Given the description of an element on the screen output the (x, y) to click on. 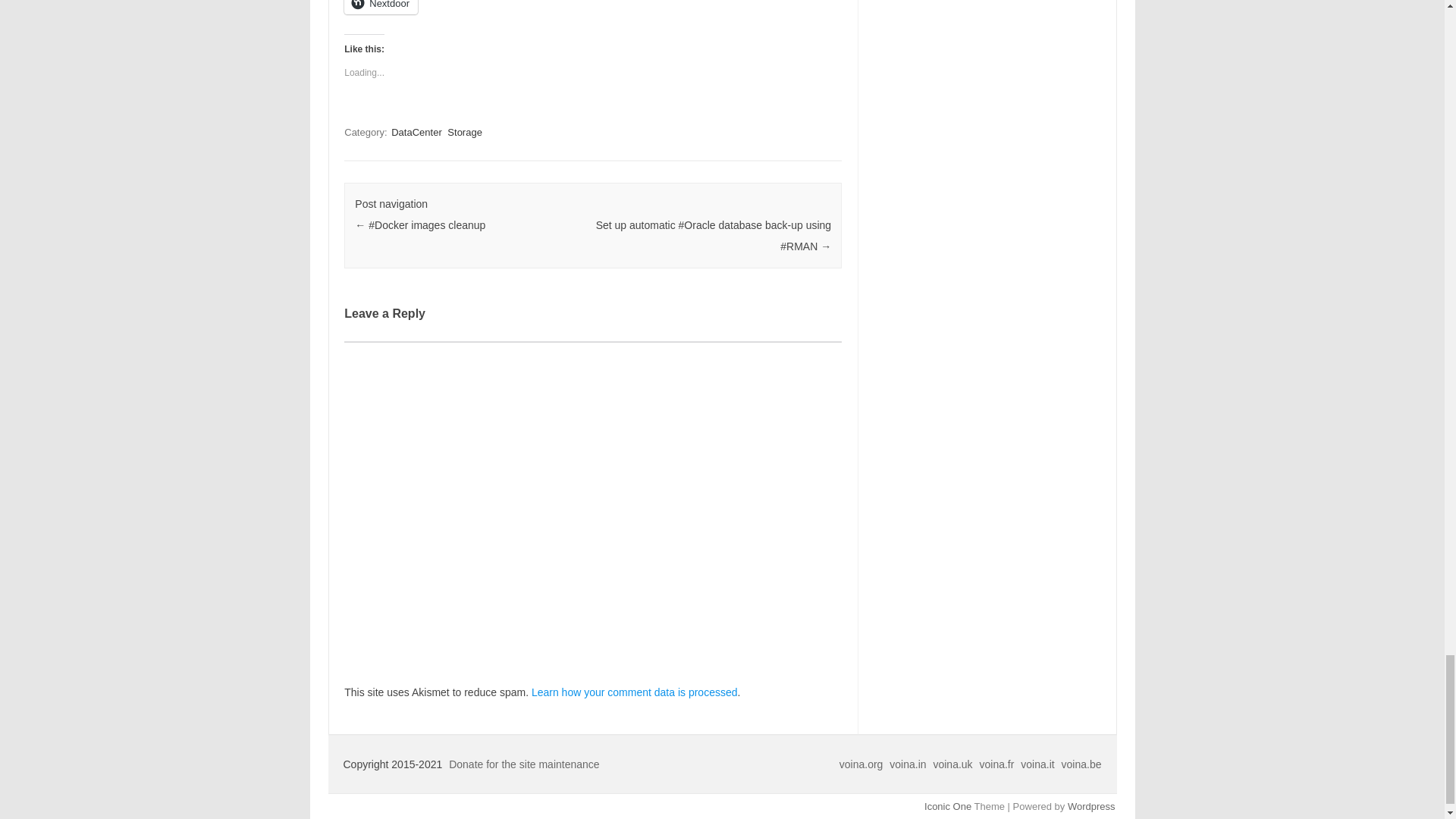
Learn how your comment data is processed (634, 692)
Nextdoor (380, 7)
Storage (464, 132)
DataCenter (416, 132)
